Given the description of an element on the screen output the (x, y) to click on. 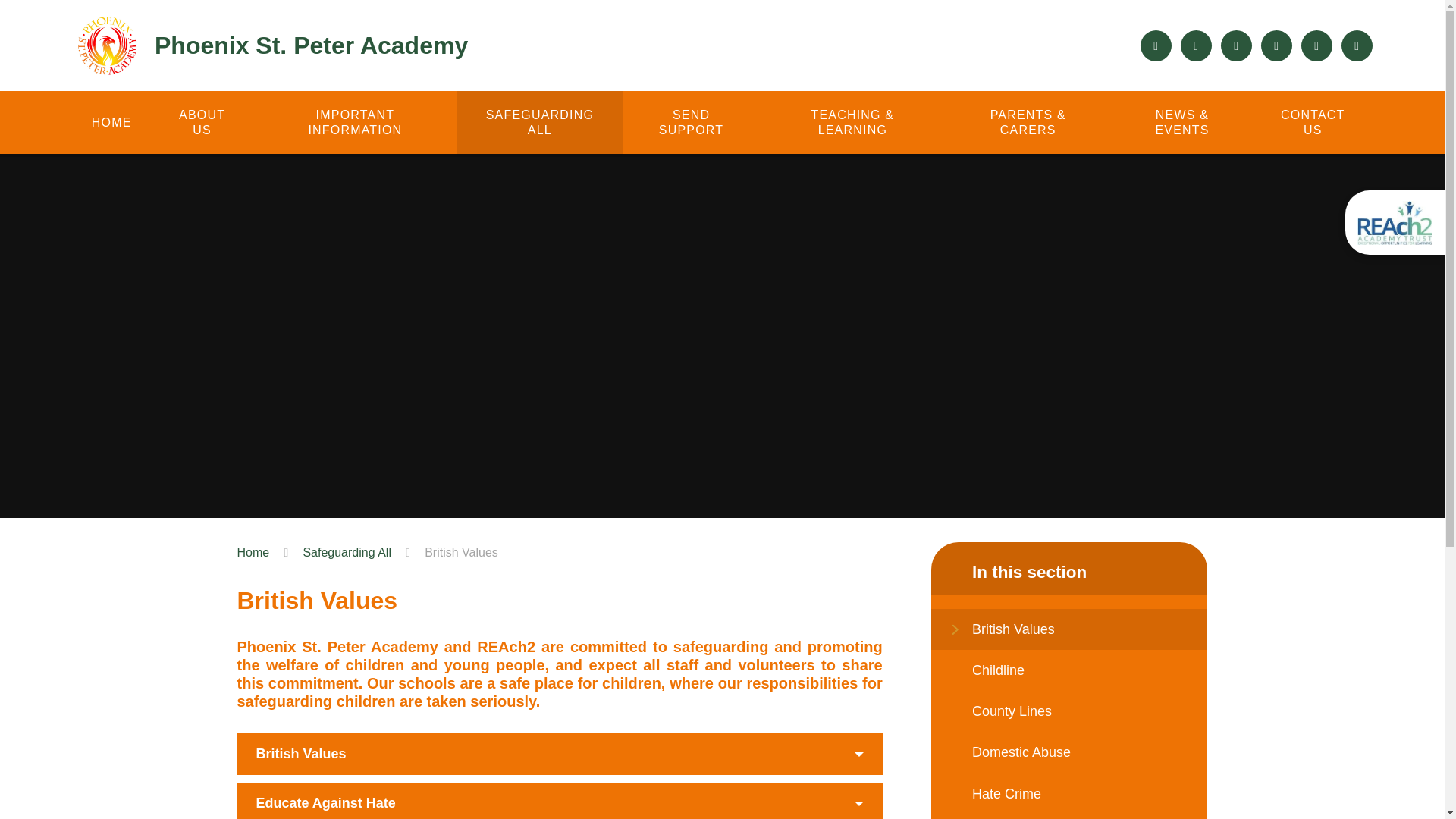
HOME (111, 121)
IMPORTANT INFORMATION (355, 121)
Phoenix St. Peter Academy (269, 45)
ABOUT US (202, 121)
